Given the description of an element on the screen output the (x, y) to click on. 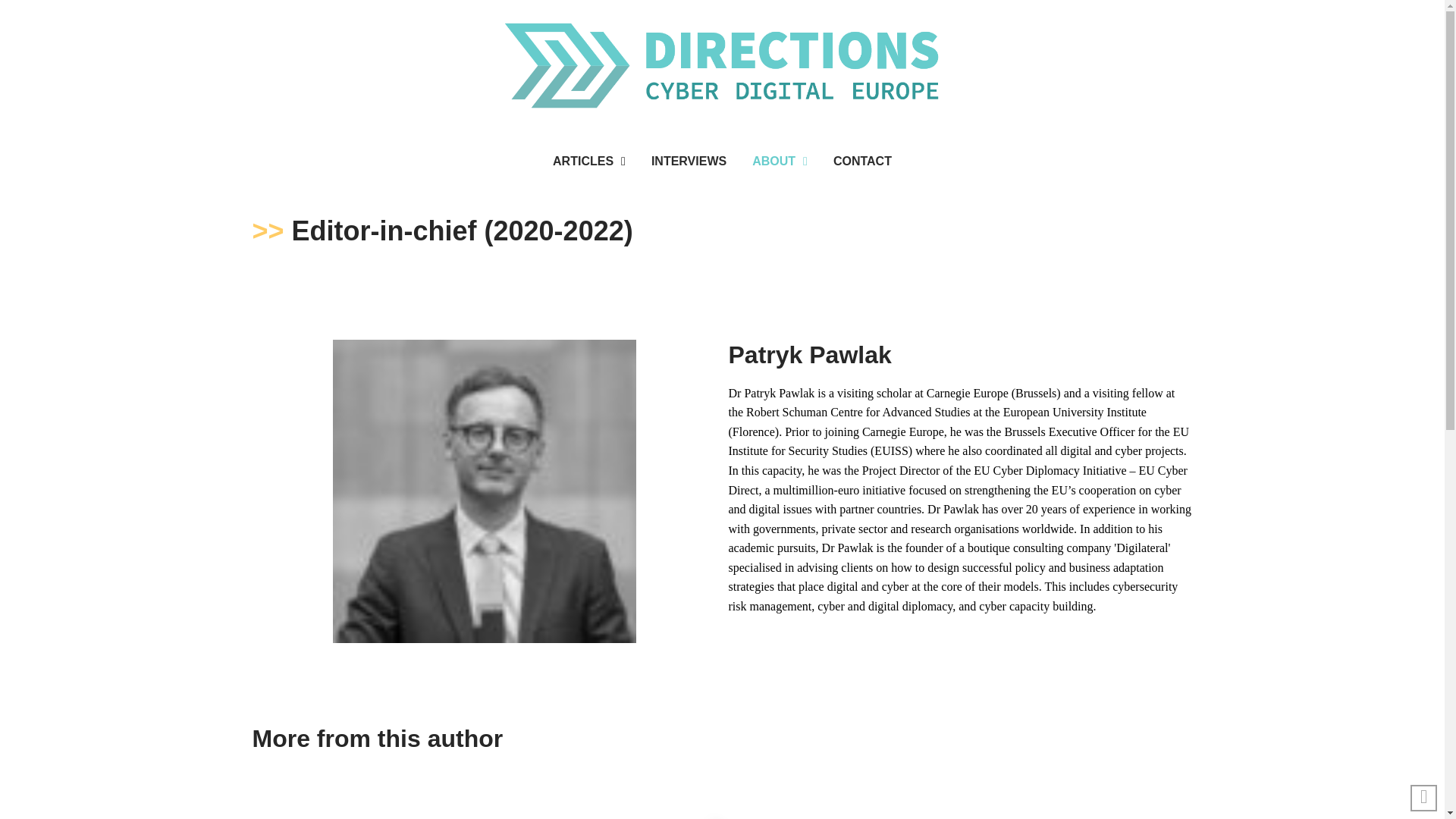
CONTACT (862, 161)
ABOUT (780, 161)
INTERVIEWS (689, 161)
ARTICLES (589, 161)
Back to Top (1423, 797)
